Given the description of an element on the screen output the (x, y) to click on. 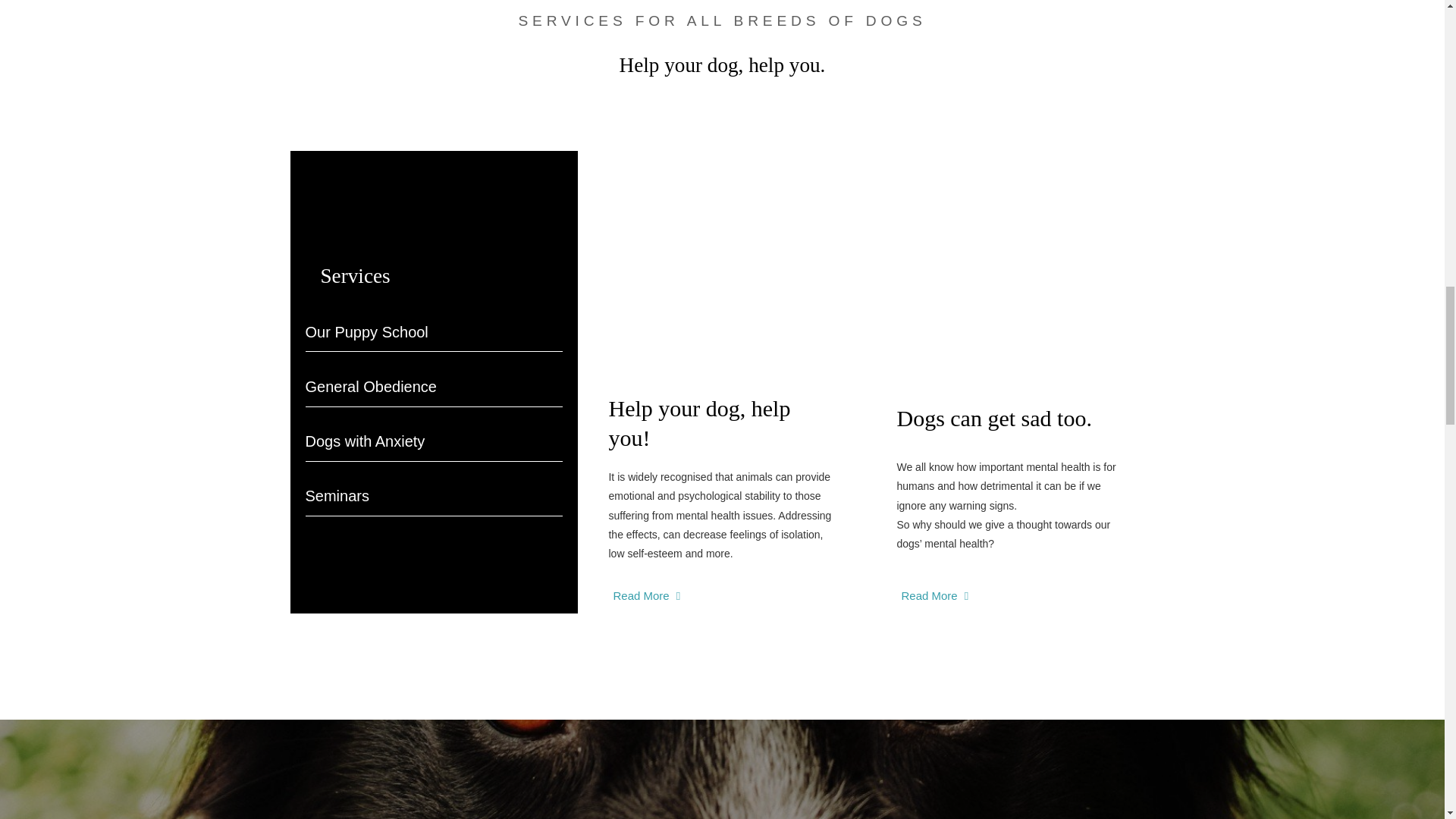
Read More (646, 595)
Read More (934, 595)
Seminars (433, 488)
Dogs with Anxiety (433, 433)
General Obedience (433, 379)
Our Puppy School (433, 324)
